Given the description of an element on the screen output the (x, y) to click on. 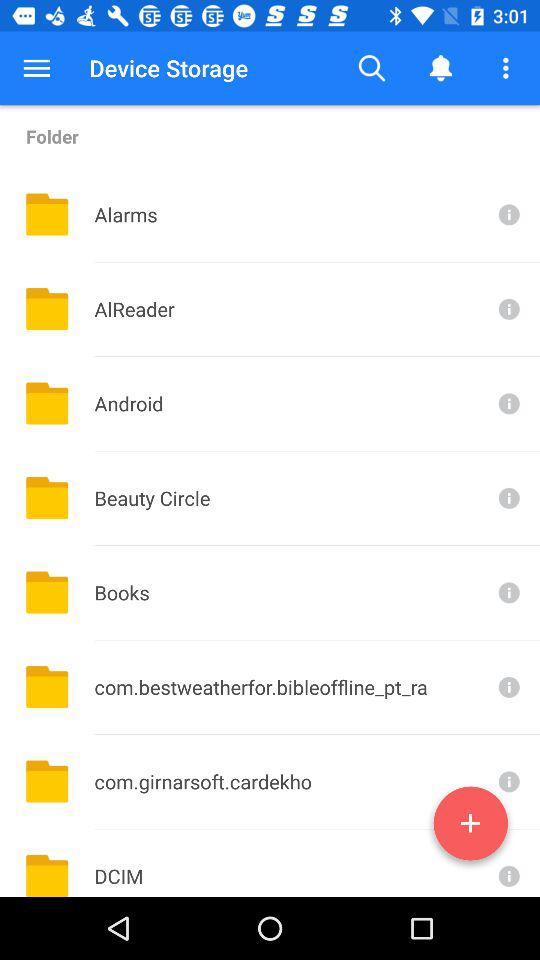
add new folder (470, 827)
